Given the description of an element on the screen output the (x, y) to click on. 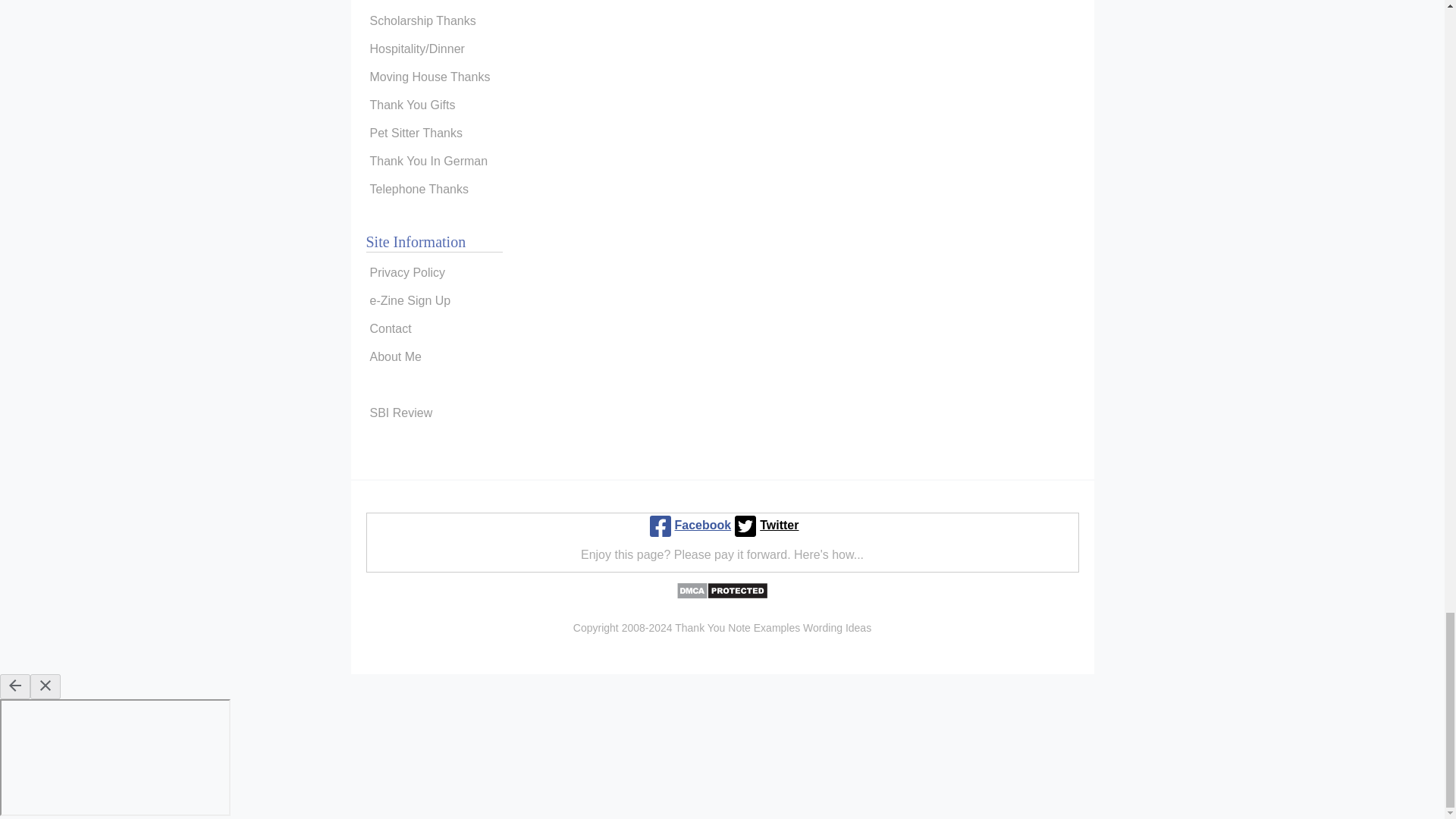
DMCA.com Protection Status (722, 594)
